Given the description of an element on the screen output the (x, y) to click on. 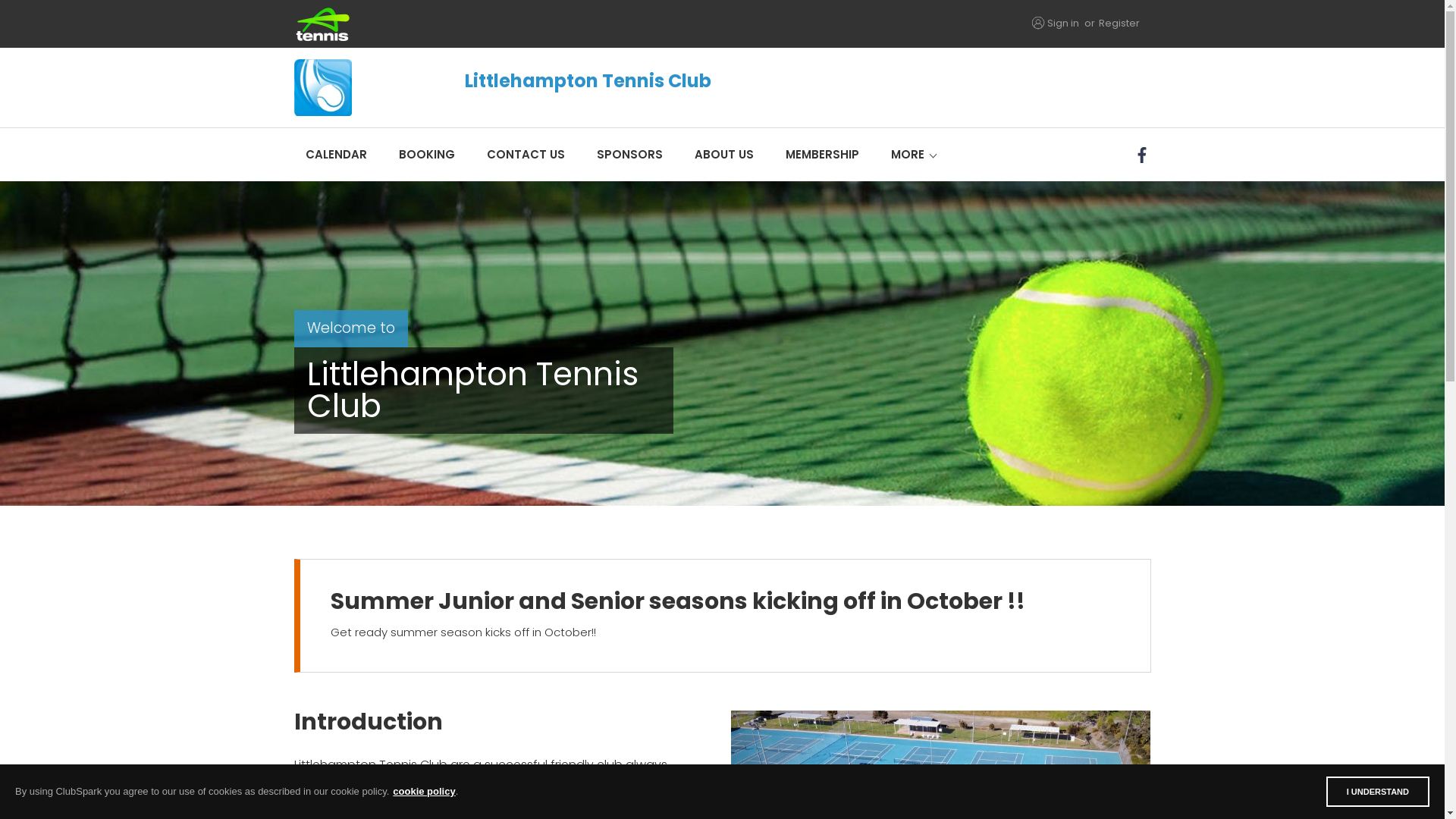
CALENDAR Element type: text (336, 154)
Littlehampton Tennis Club Element type: text (594, 87)
MORE Element type: text (907, 154)
Facebook Element type: text (1143, 154)
ClubSpark Element type: text (508, 23)
SPONSORS Element type: text (629, 154)
Sign in Element type: text (1062, 22)
ABOUT US Element type: text (723, 154)
MEMBERSHIP Element type: text (821, 154)
BOOKING Element type: text (425, 154)
cookie policy Element type: text (423, 791)
CONTACT US Element type: text (524, 154)
I UNDERSTAND Element type: text (1377, 791)
Register Element type: text (1118, 22)
